Given the description of an element on the screen output the (x, y) to click on. 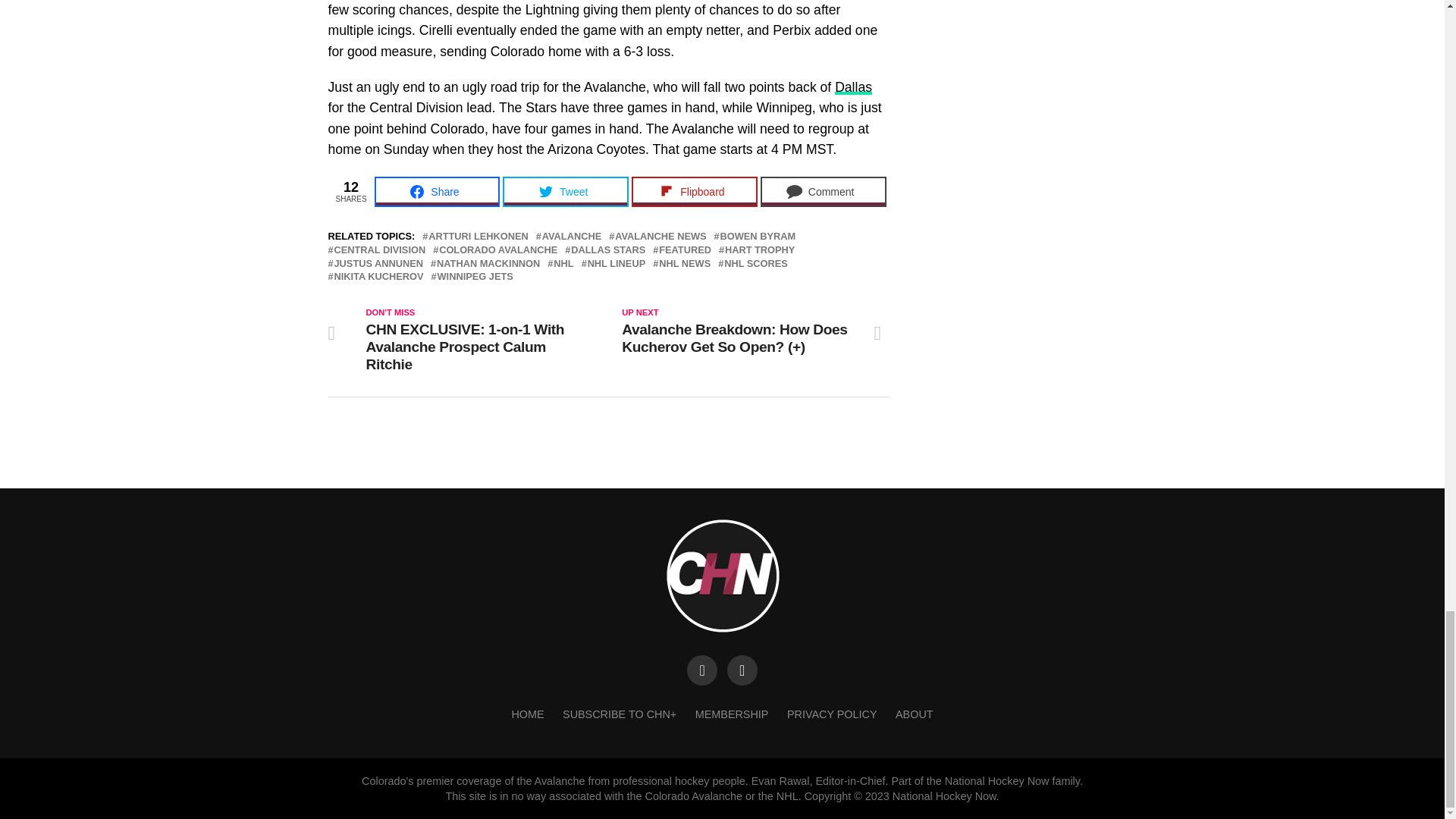
Share on Comment (823, 191)
Share on Share (437, 191)
Share on Flipboard (694, 191)
Share on Tweet (565, 191)
